Given the description of an element on the screen output the (x, y) to click on. 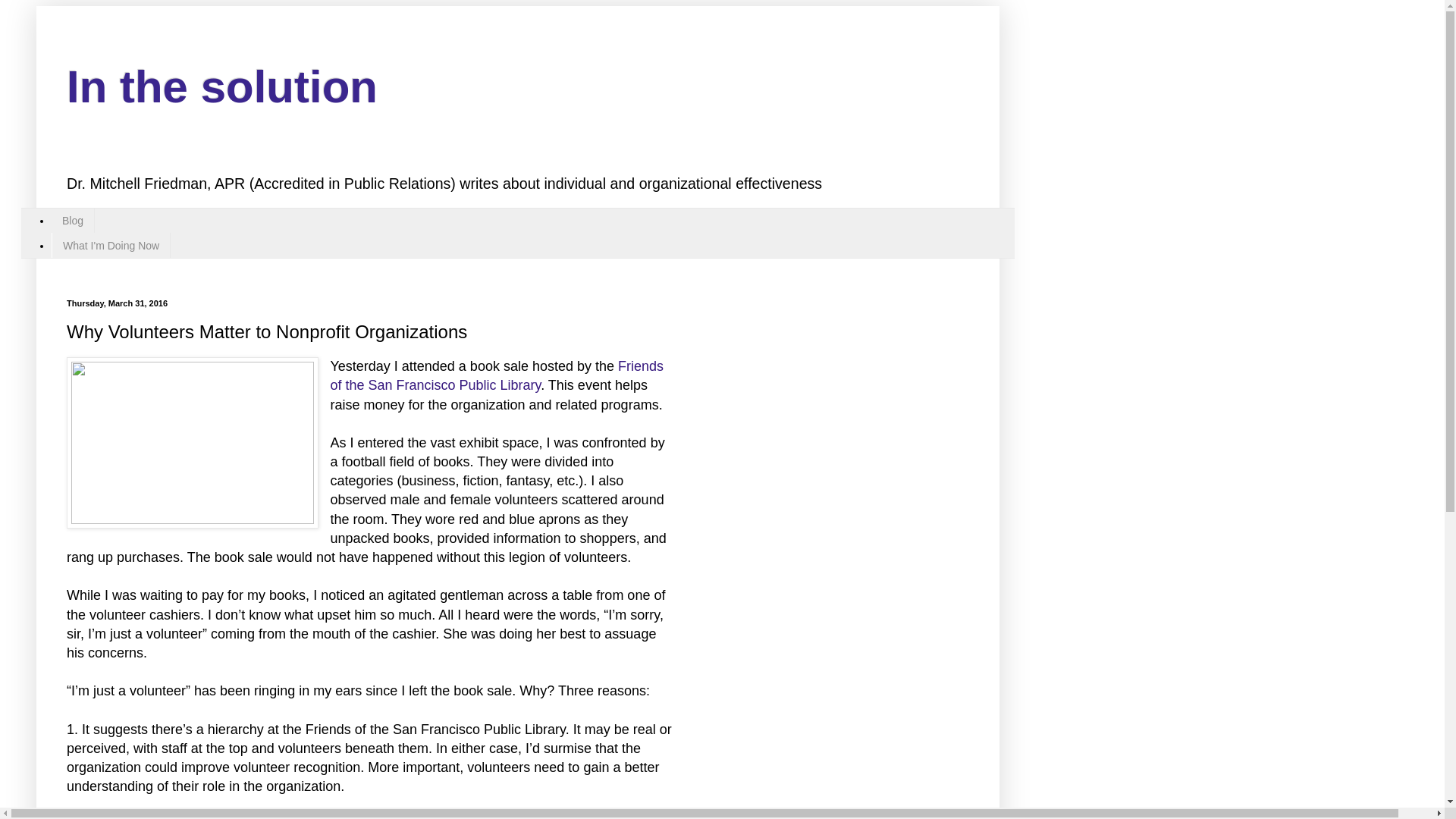
What I'm Doing Now (110, 244)
In the solution (221, 86)
Blog (72, 220)
Friends of the San Francisco Public Library (496, 375)
